Given the description of an element on the screen output the (x, y) to click on. 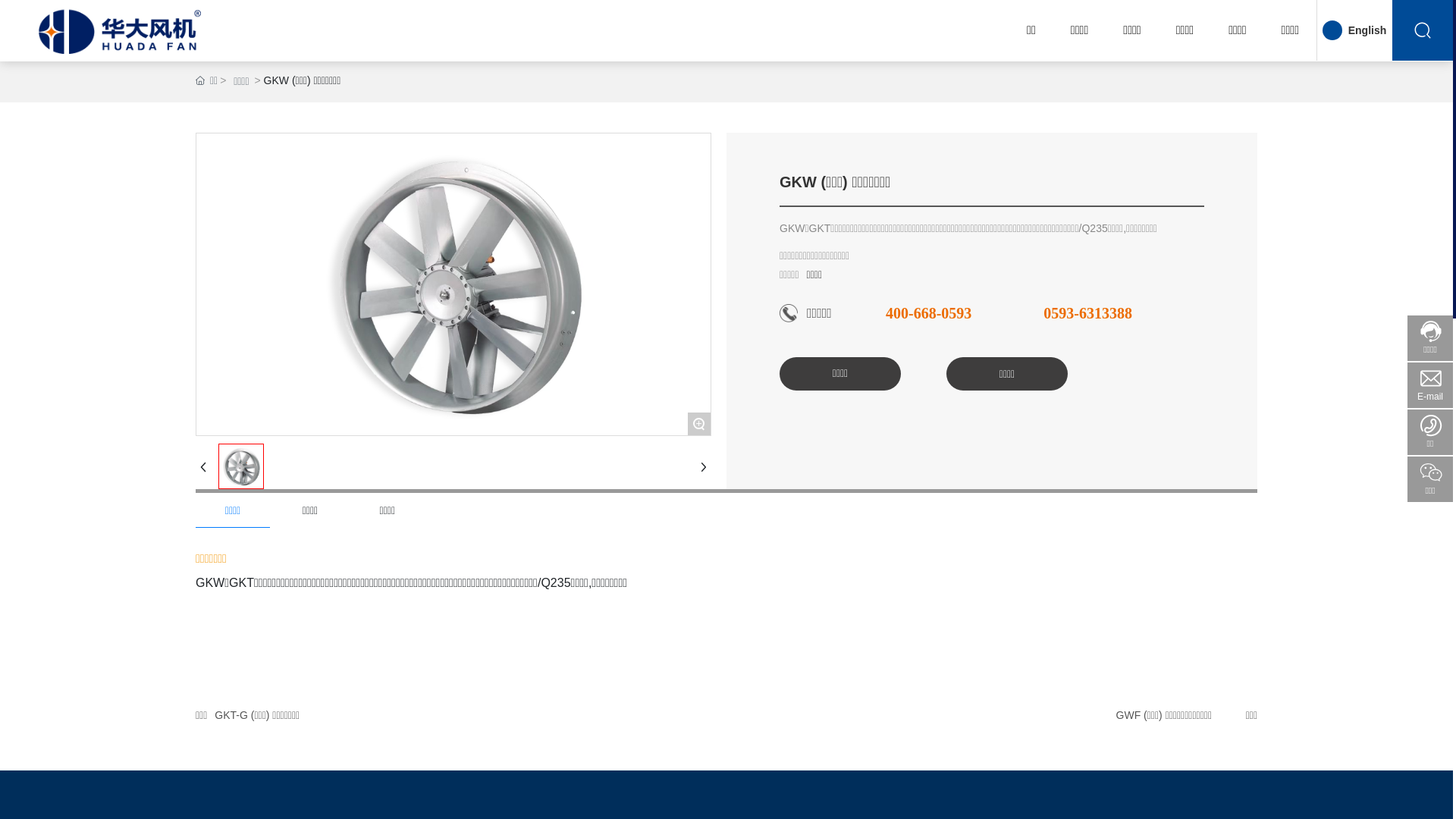
English Element type: text (1367, 29)
400-668-0593 Element type: text (928, 312)
0593-6313388 Element type: text (1087, 312)
pr02.png Element type: hover (241, 466)
